Given the description of an element on the screen output the (x, y) to click on. 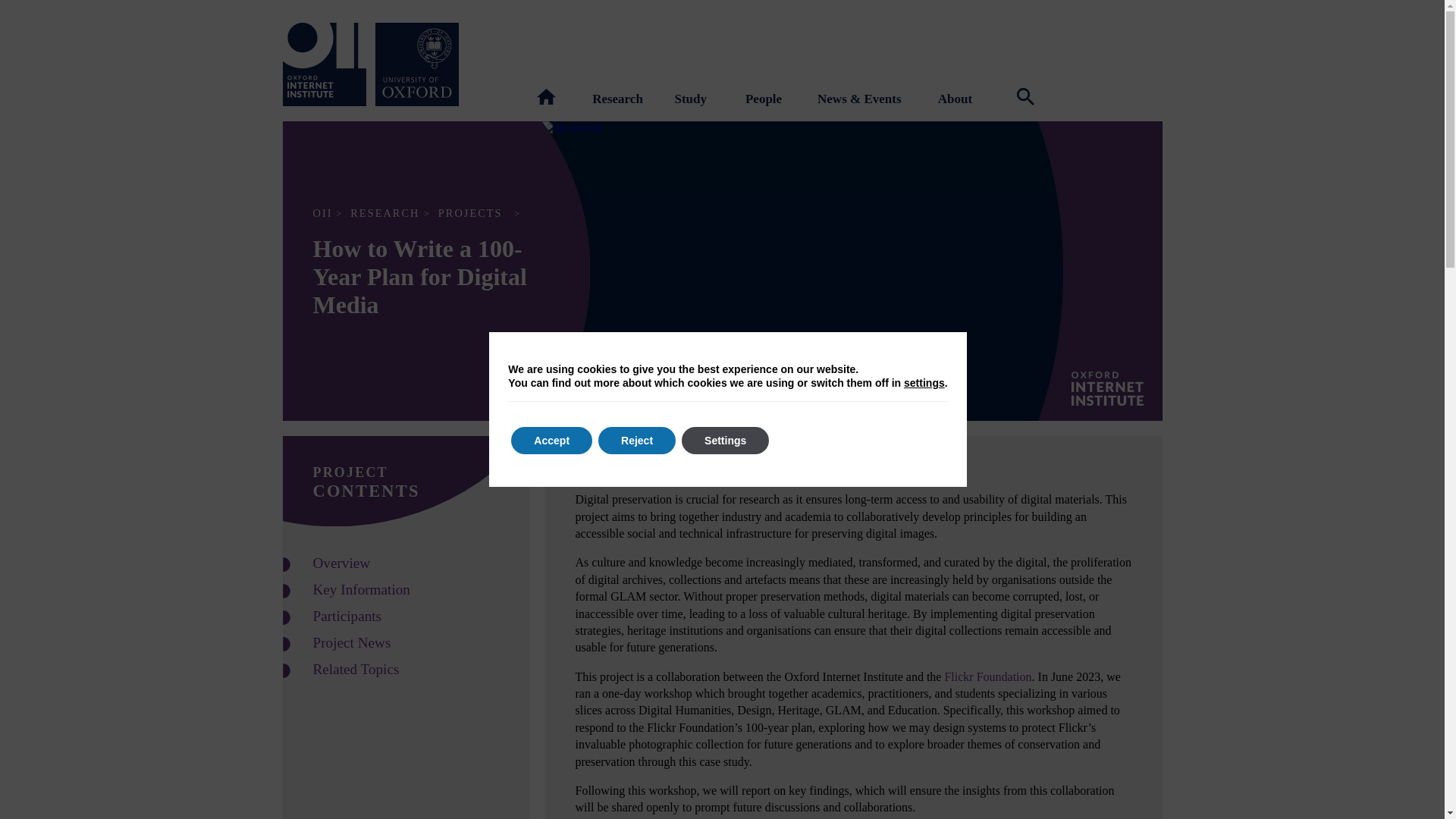
Homepage icon (546, 96)
